Given the description of an element on the screen output the (x, y) to click on. 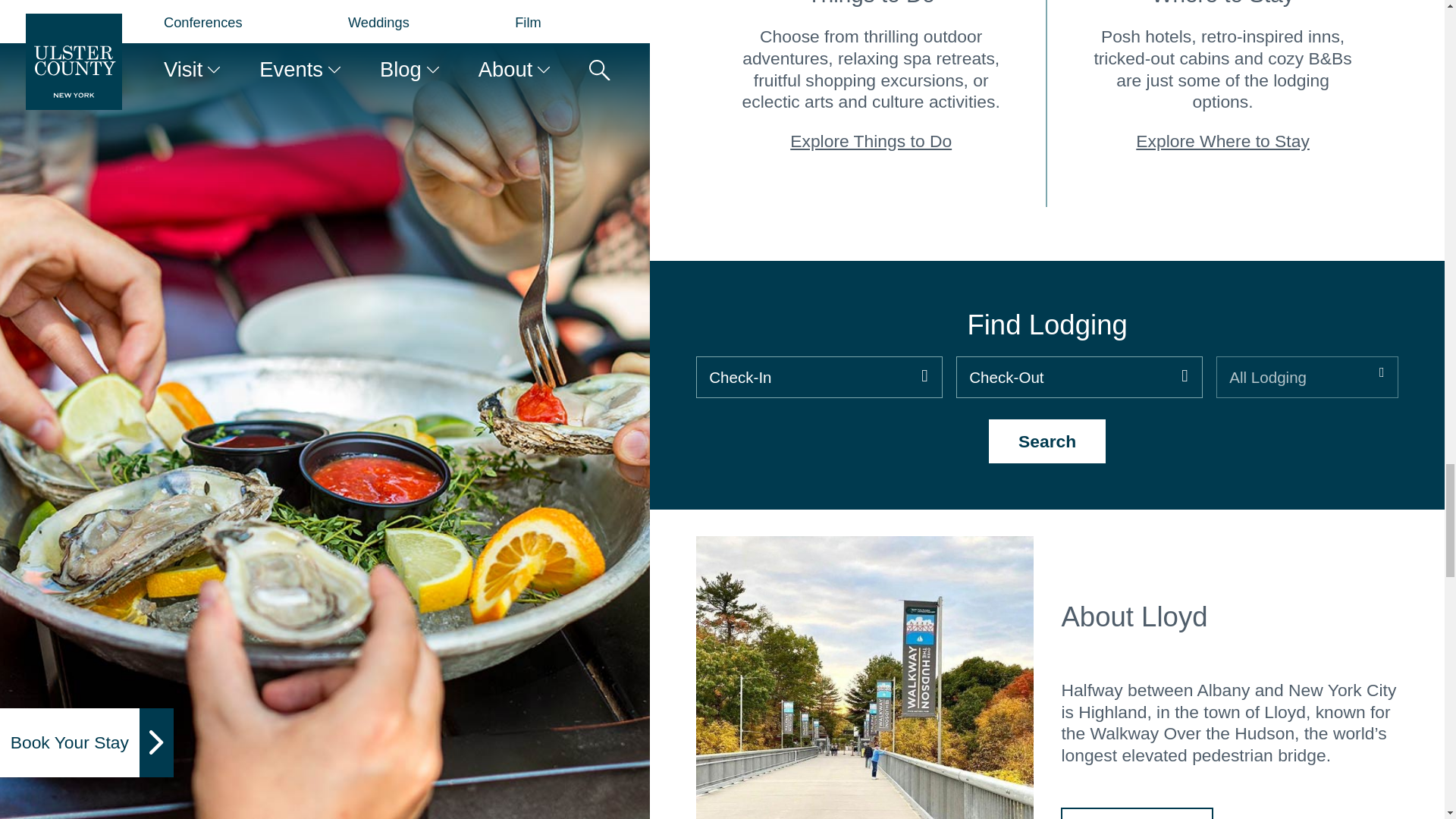
Check Out (1079, 377)
Check-In (819, 377)
Check In (819, 377)
Check-Out (1079, 377)
